Given the description of an element on the screen output the (x, y) to click on. 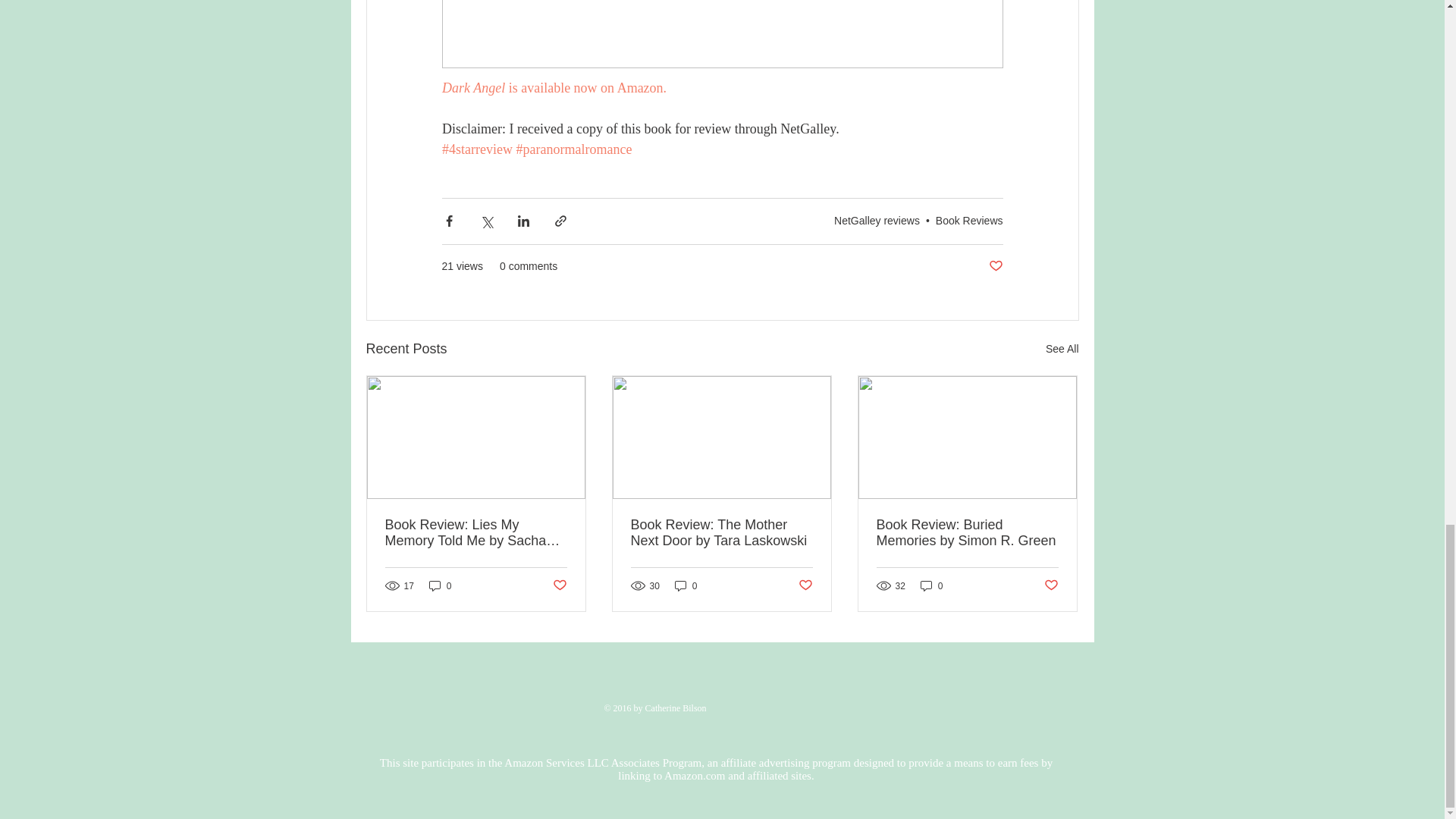
Dark Angel (472, 87)
NetGalley reviews (877, 220)
 is available now on Amazon.  (587, 87)
Book Reviews (969, 220)
